Given the description of an element on the screen output the (x, y) to click on. 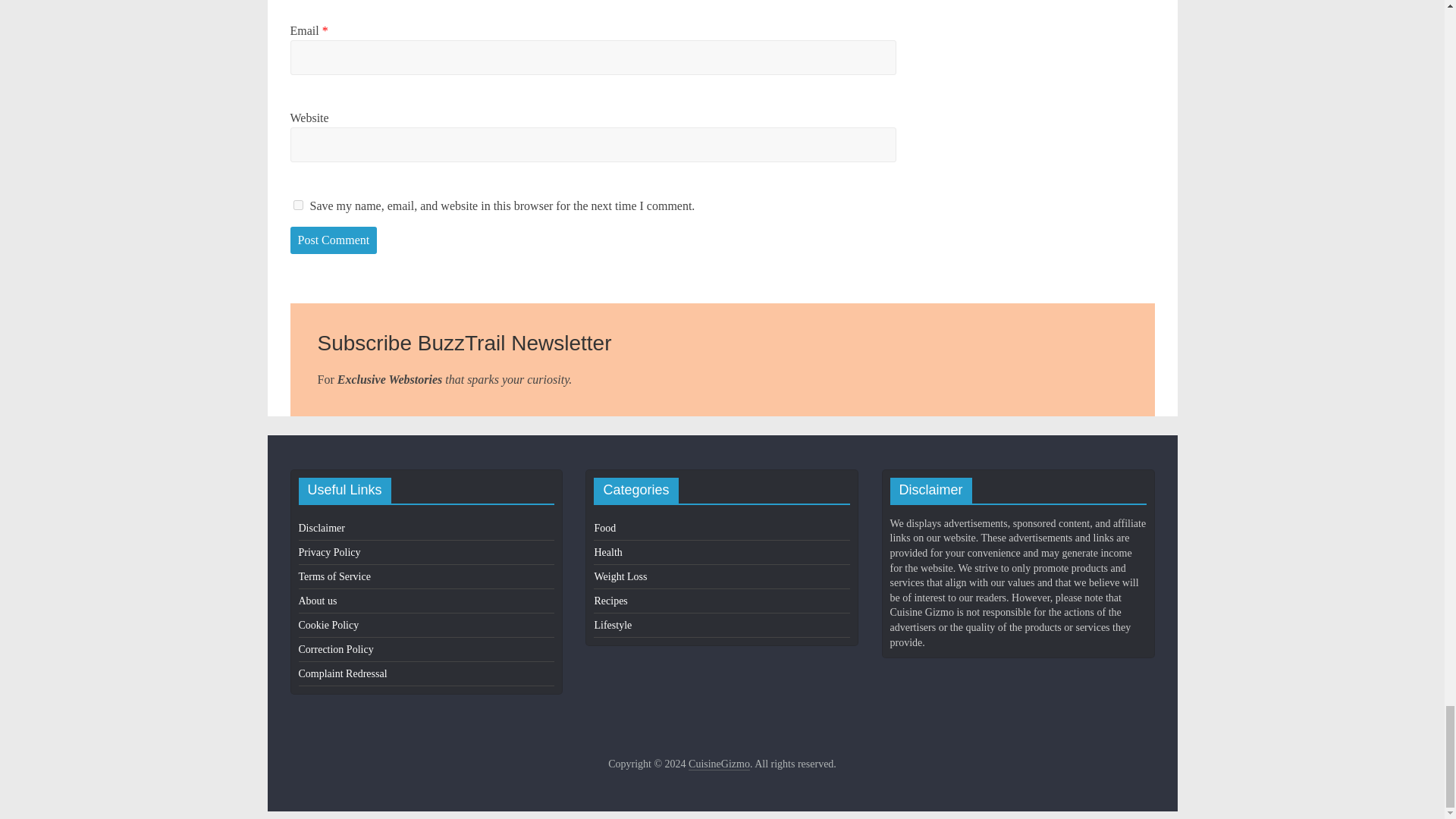
yes (297, 204)
Post Comment (333, 239)
